Given the description of an element on the screen output the (x, y) to click on. 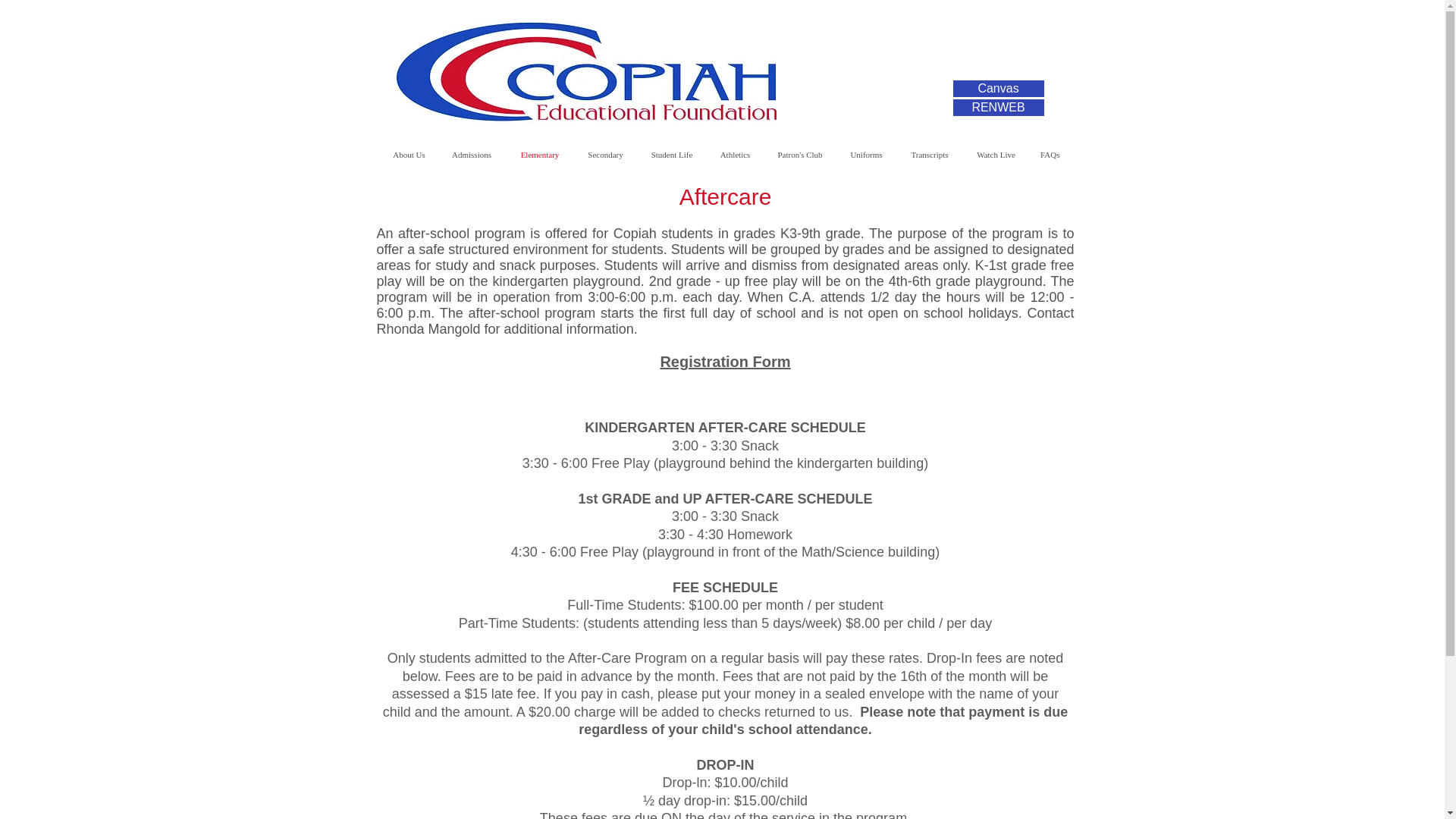
Secondary (605, 154)
Canvas (997, 88)
About Us (409, 154)
RENWEB (997, 107)
Elementary (539, 154)
Admissions (471, 154)
